Given the description of an element on the screen output the (x, y) to click on. 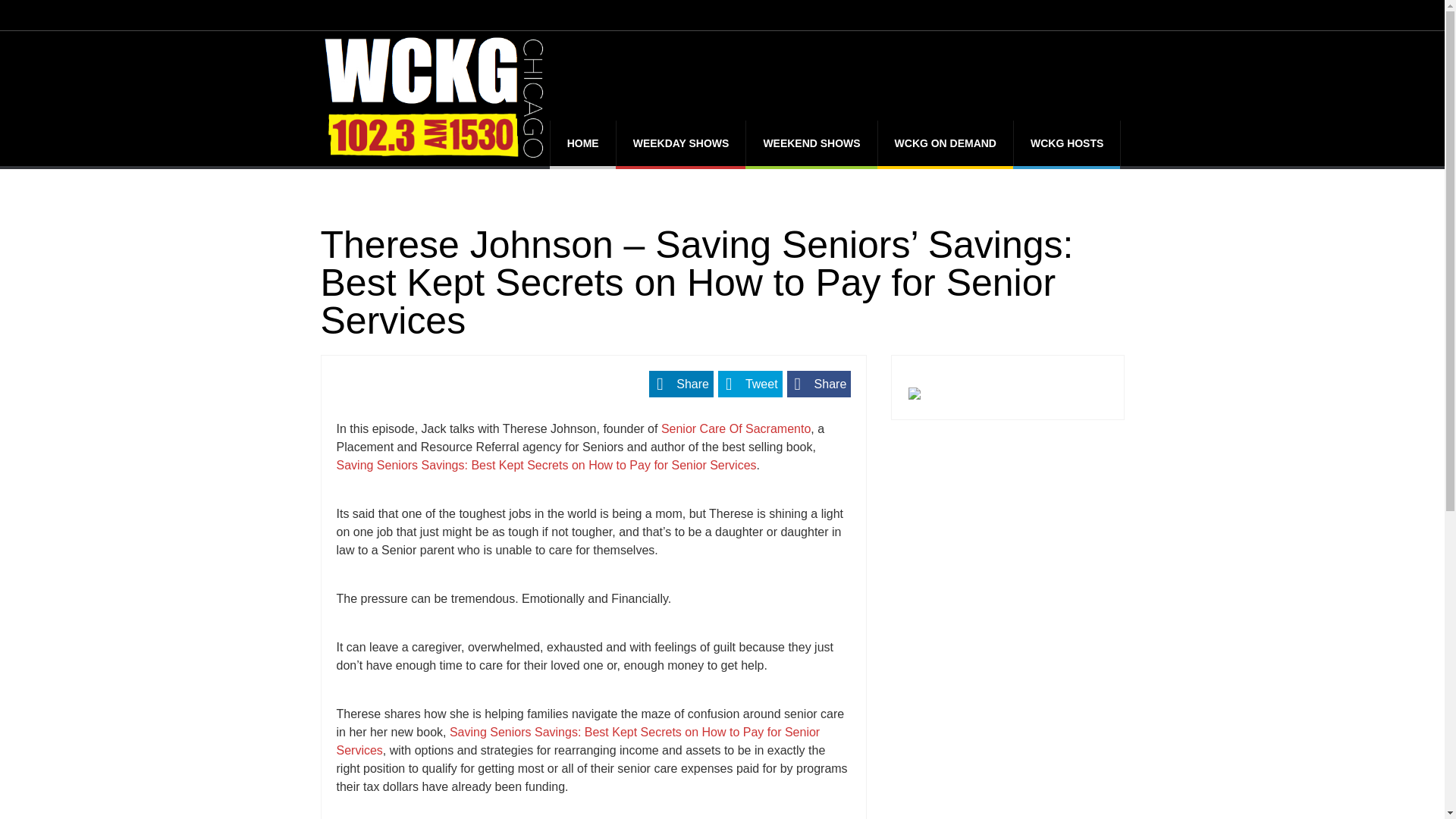
WEEKEND SHOWS (810, 143)
HOME (582, 143)
WEEKDAY SHOWS (680, 143)
WCKG HOSTS (1066, 143)
WCKG ON DEMAND (945, 143)
Share (819, 384)
Share (681, 384)
Tweet (750, 384)
